Given the description of an element on the screen output the (x, y) to click on. 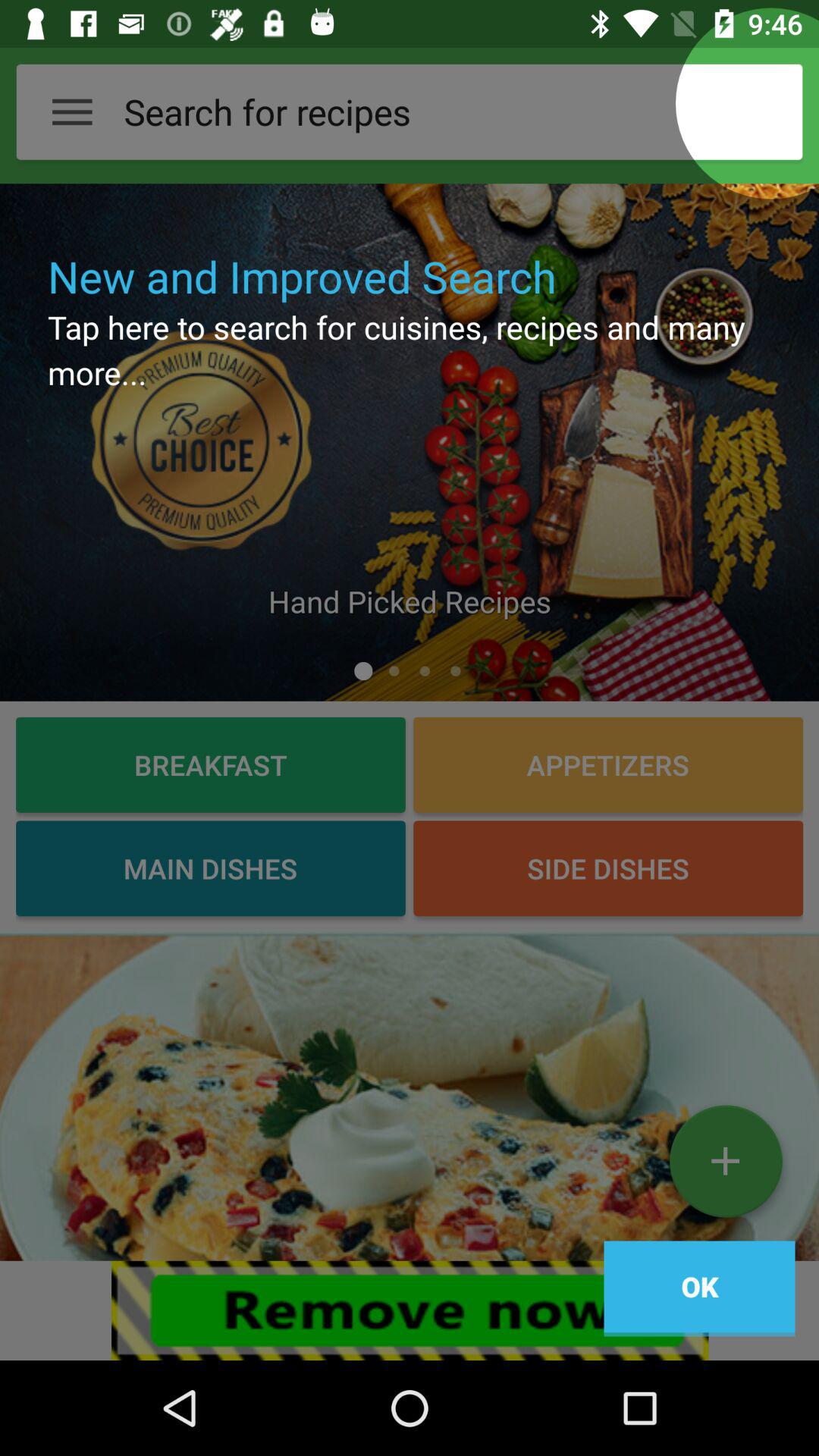
add image (725, 1167)
